Given the description of an element on the screen output the (x, y) to click on. 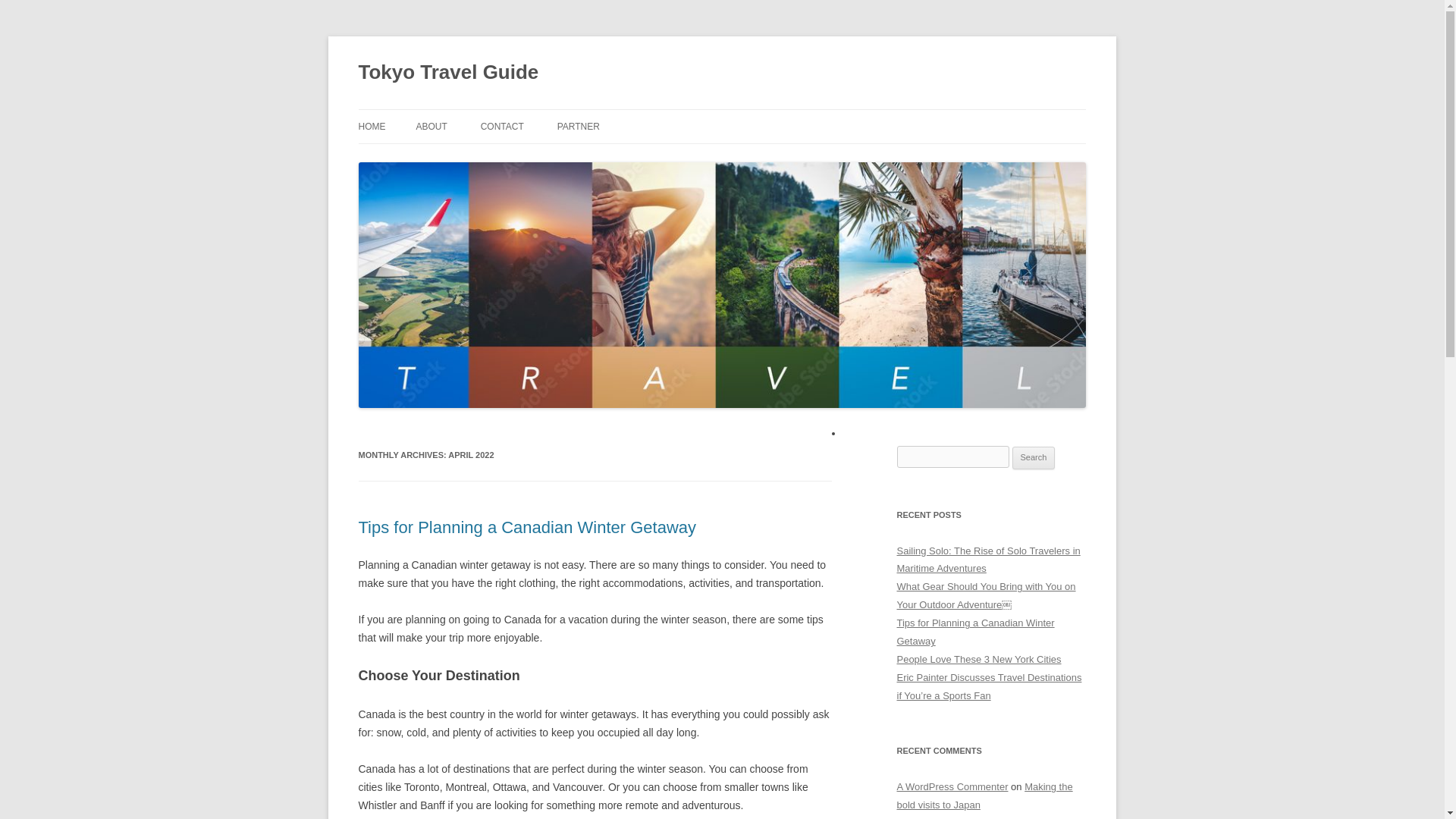
ABOUT (430, 126)
Search (1033, 457)
Tips for Planning a Canadian Winter Getaway (975, 632)
Making the bold visits to Japan (983, 795)
Tokyo Travel Guide (448, 72)
Tips for Planning a Canadian Winter Getaway (526, 527)
PARTNER (578, 126)
Search (1033, 457)
CONTACT (502, 126)
